Given the description of an element on the screen output the (x, y) to click on. 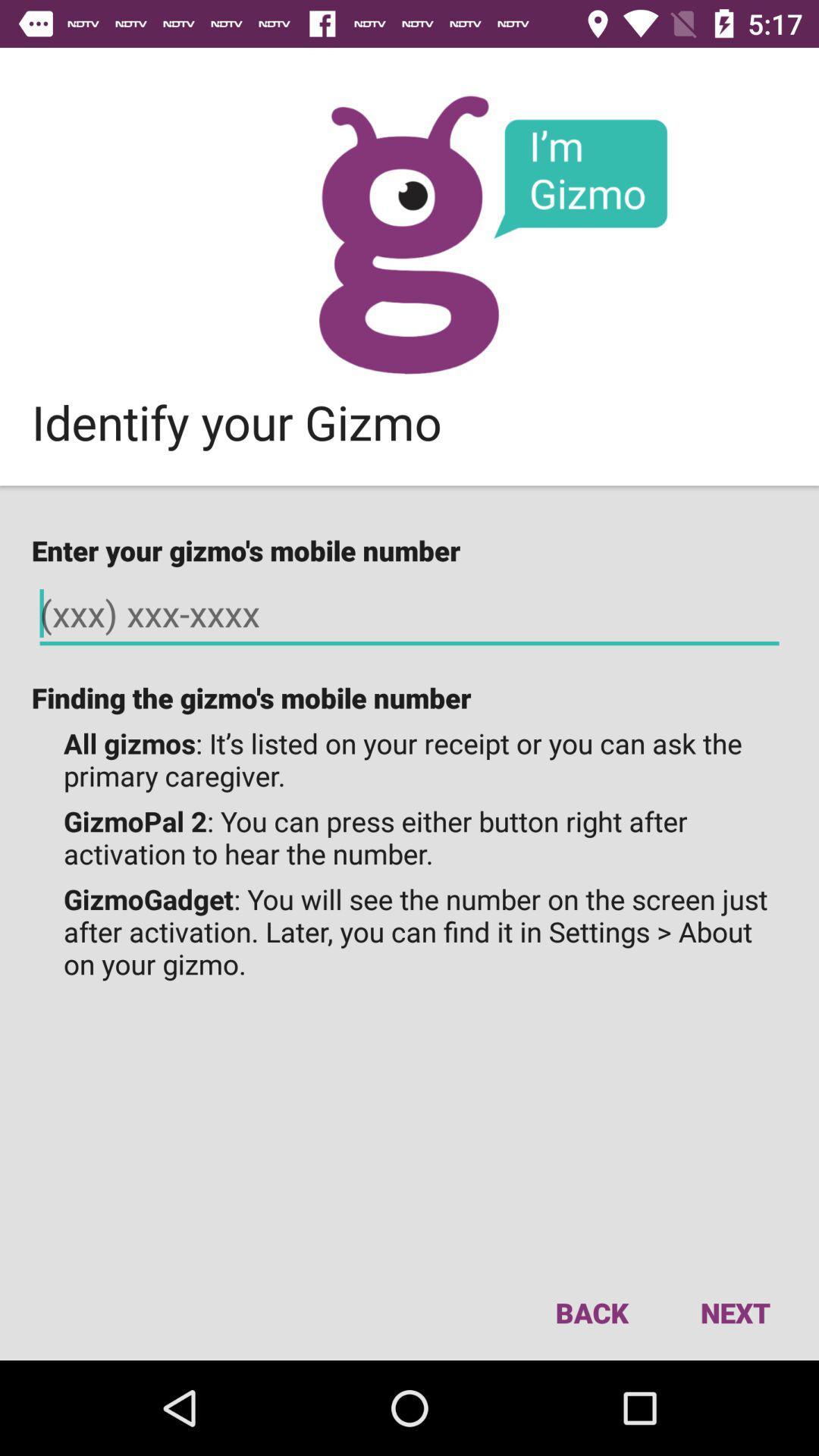
enter the phone number (409, 614)
